Given the description of an element on the screen output the (x, y) to click on. 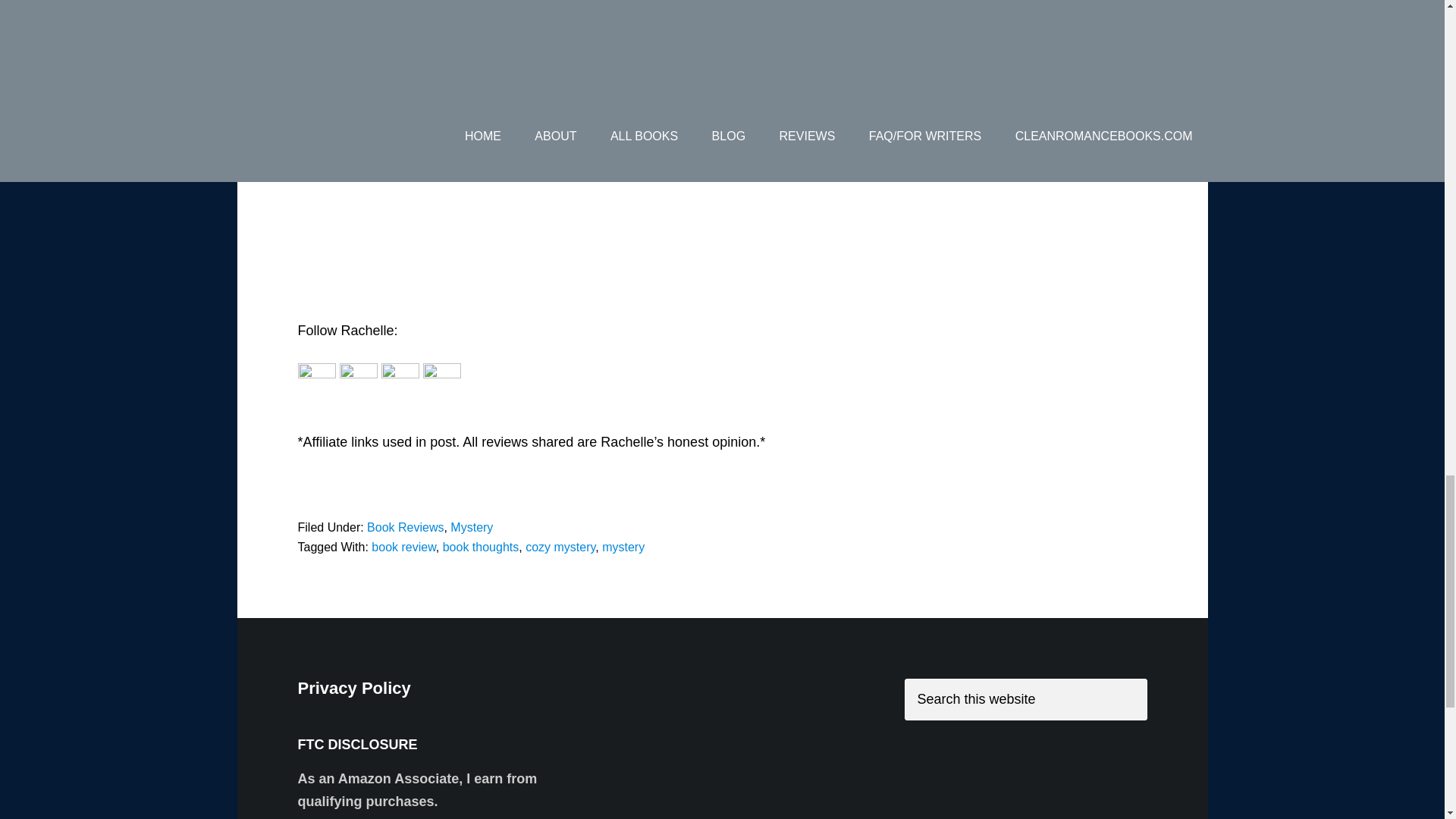
Privacy Policy (353, 687)
Book Reviews (405, 526)
cozy mystery (560, 546)
mystery (623, 546)
book review (403, 546)
HERE (936, 28)
Mystery (471, 526)
